Given the description of an element on the screen output the (x, y) to click on. 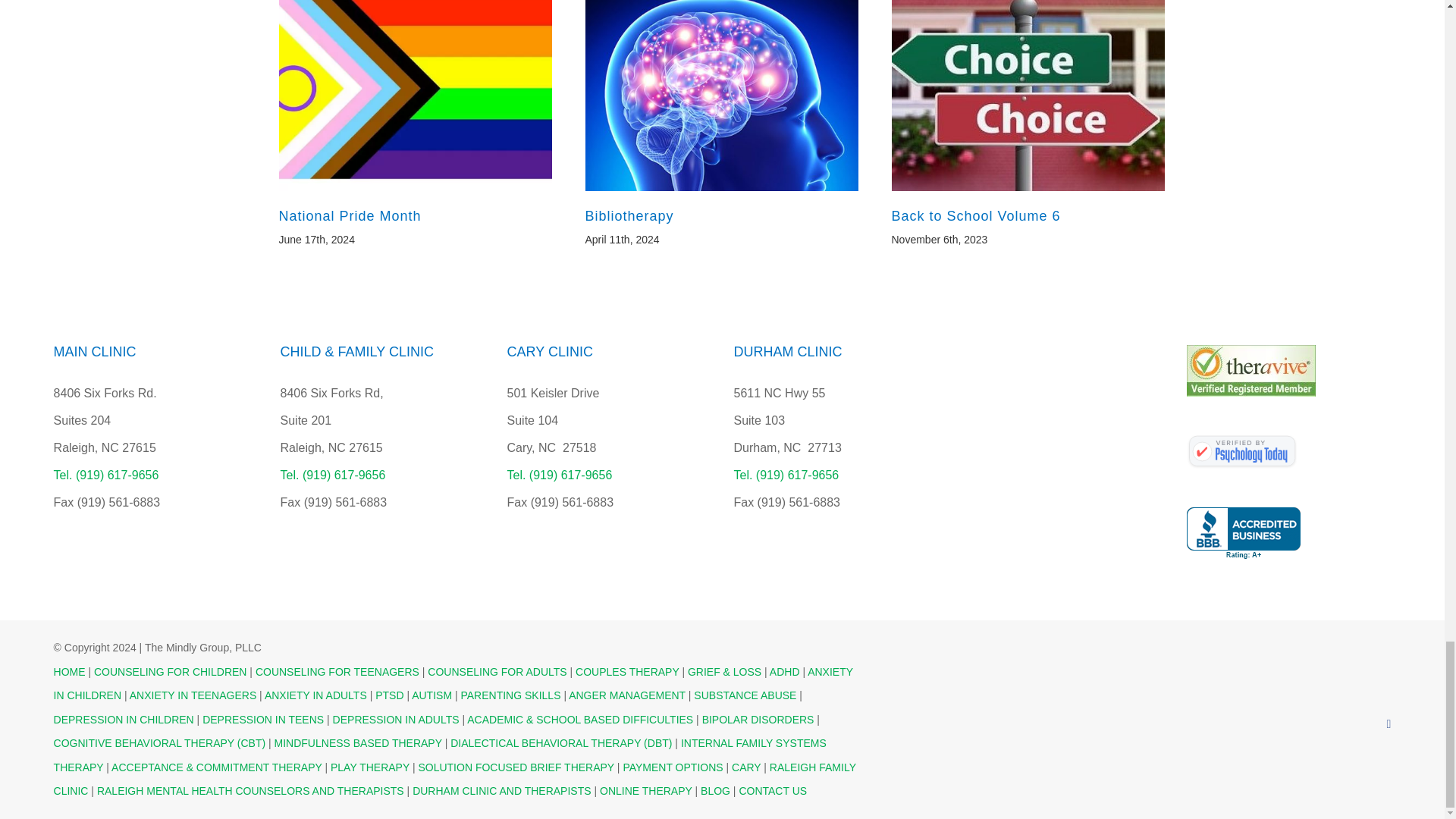
Bibliotherapy (629, 215)
National Pride Month (350, 215)
Back to School Volume 6 (976, 215)
